Given the description of an element on the screen output the (x, y) to click on. 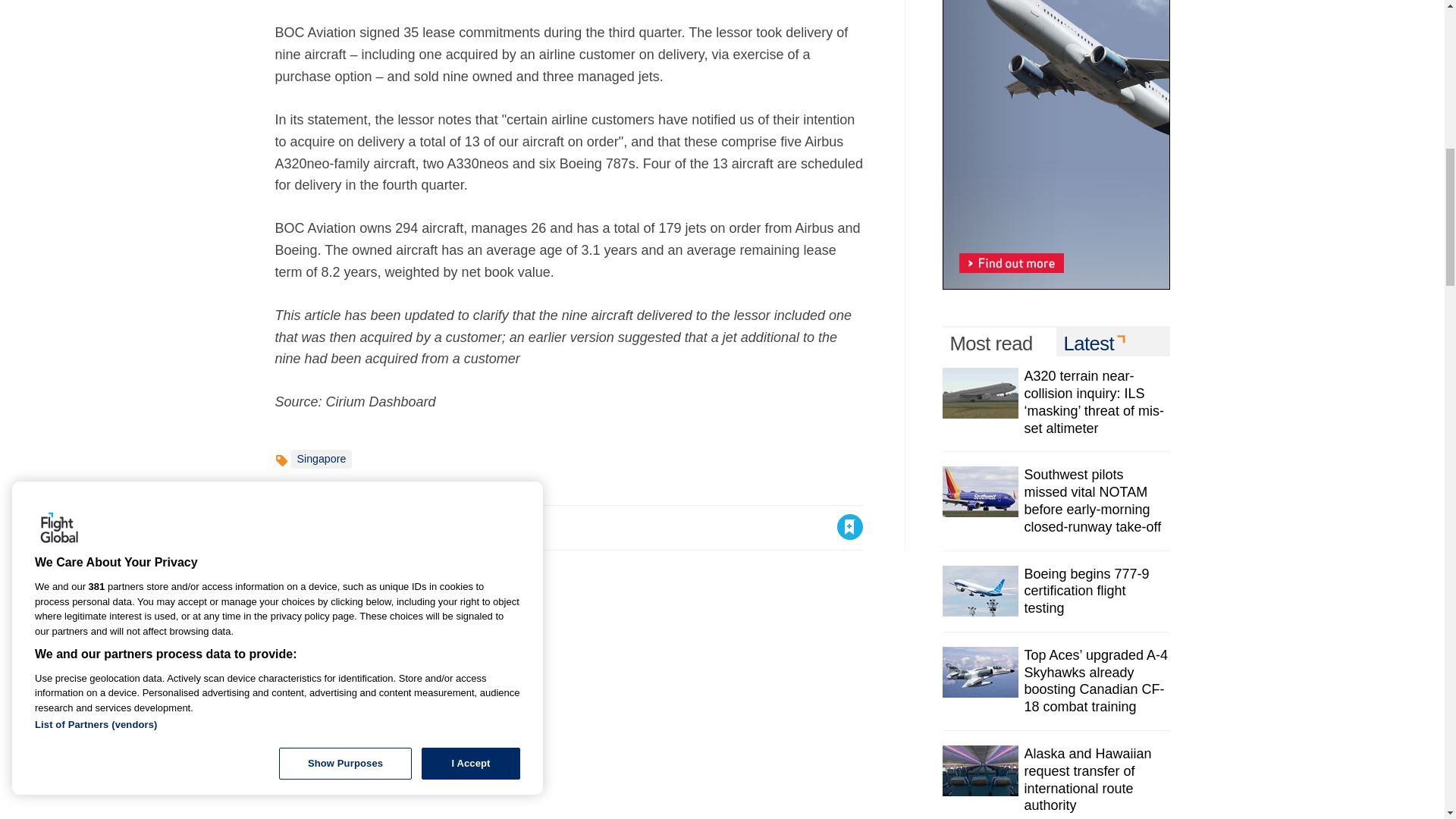
Share this on Twitter (320, 526)
Share this on Facebook (288, 526)
Share this on Linked in (352, 526)
Email this article (386, 526)
